Given the description of an element on the screen output the (x, y) to click on. 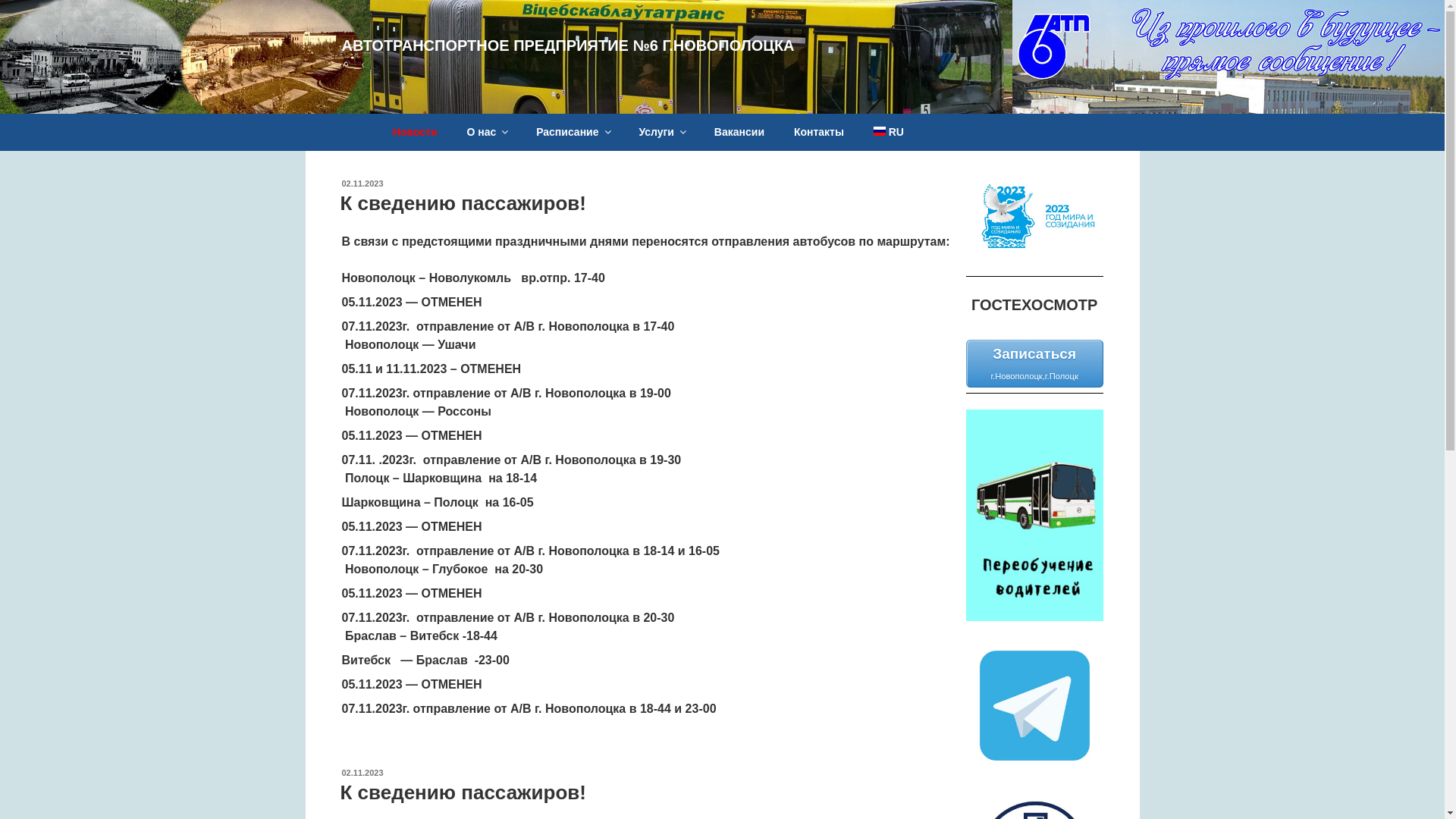
RU Element type: text (887, 131)
02.11.2023 Element type: text (361, 183)
02.11.2023 Element type: text (361, 772)
